Given the description of an element on the screen output the (x, y) to click on. 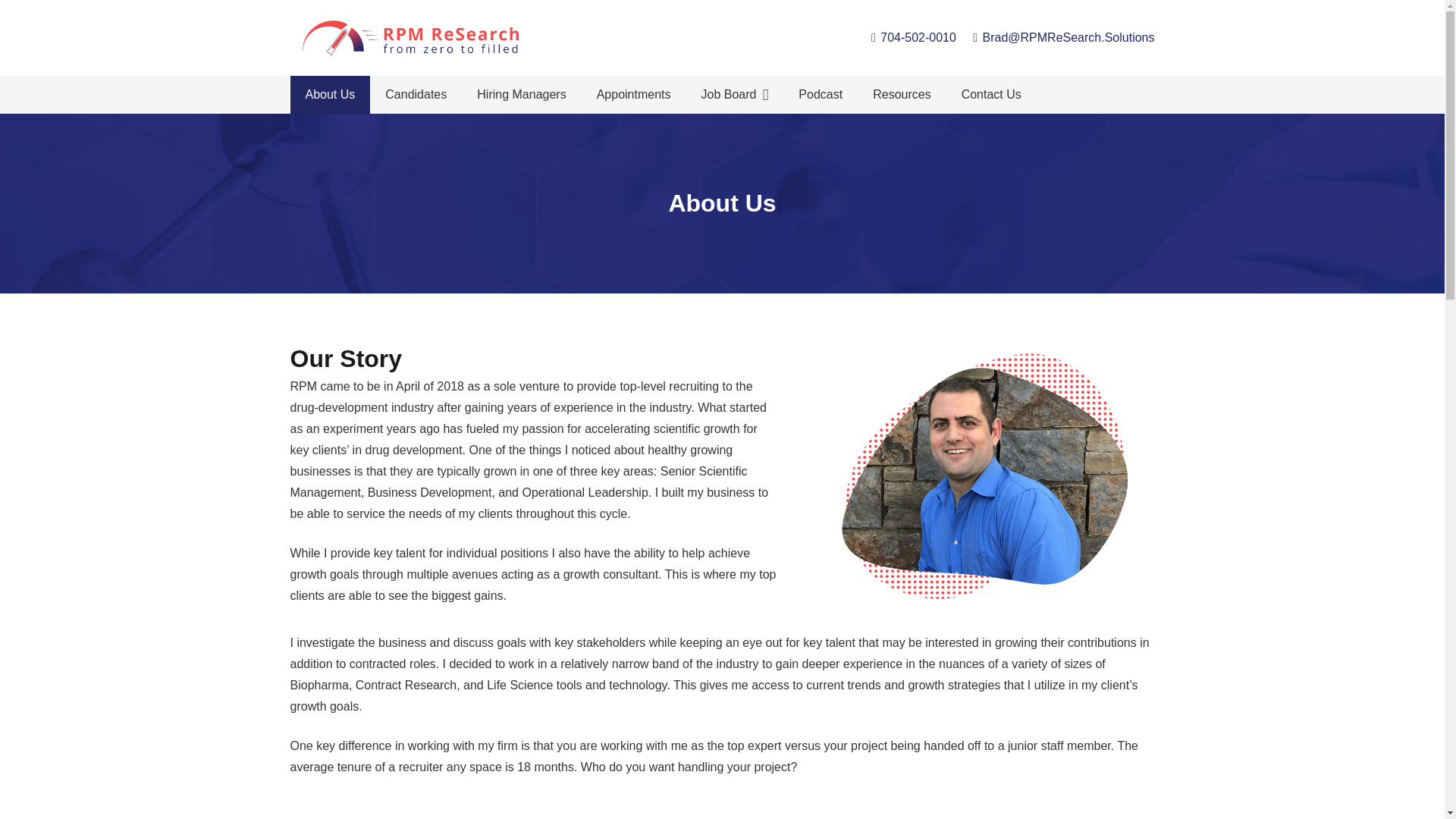
Appointments (632, 94)
Contact Us (991, 94)
Hiring Managers (520, 94)
About Us (329, 94)
Job Board (734, 94)
Podcast (820, 94)
Candidates (415, 94)
Resources (900, 94)
